Given the description of an element on the screen output the (x, y) to click on. 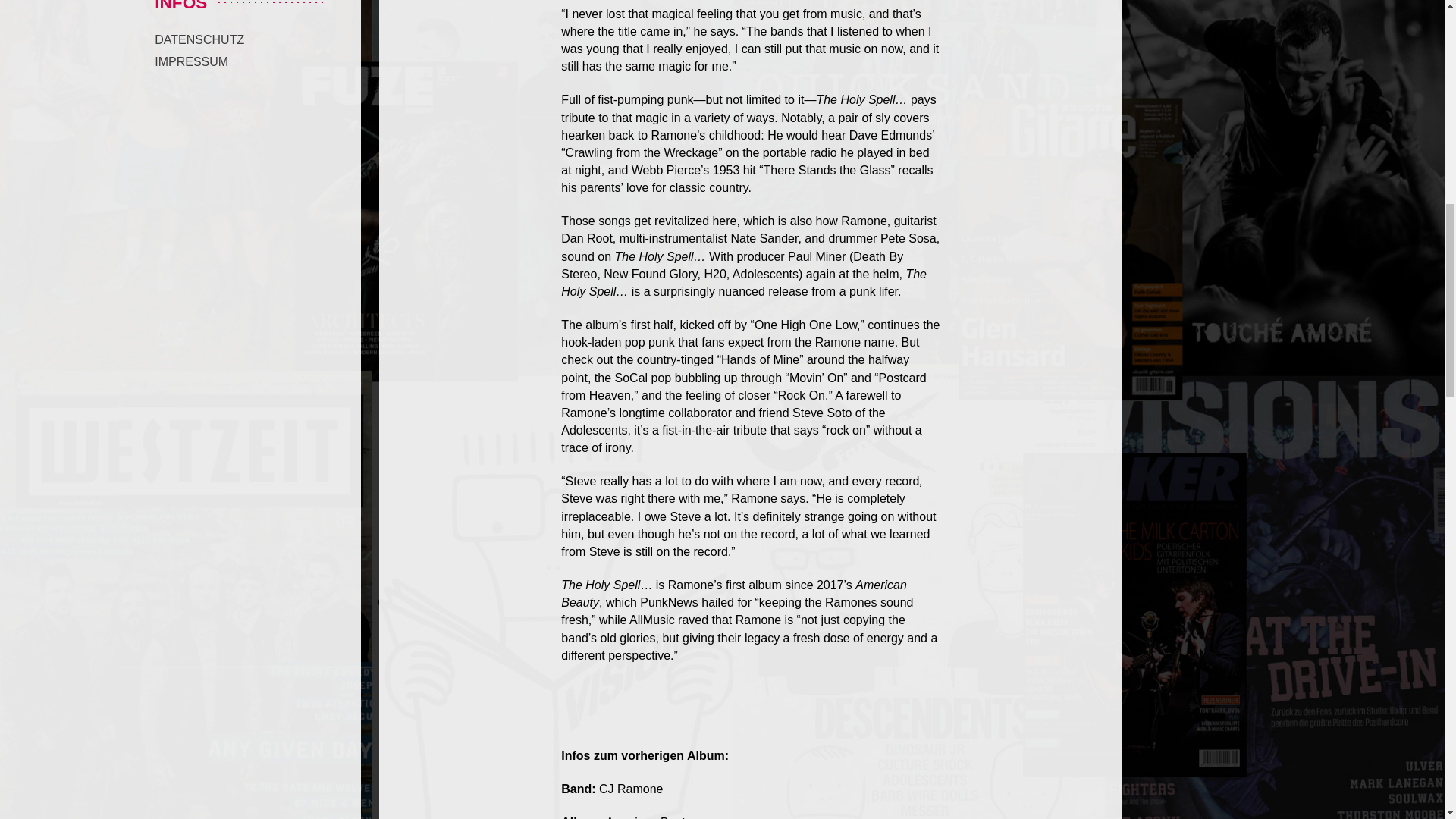
DATENSCHUTZ (199, 39)
IMPRESSUM (191, 61)
